Given the description of an element on the screen output the (x, y) to click on. 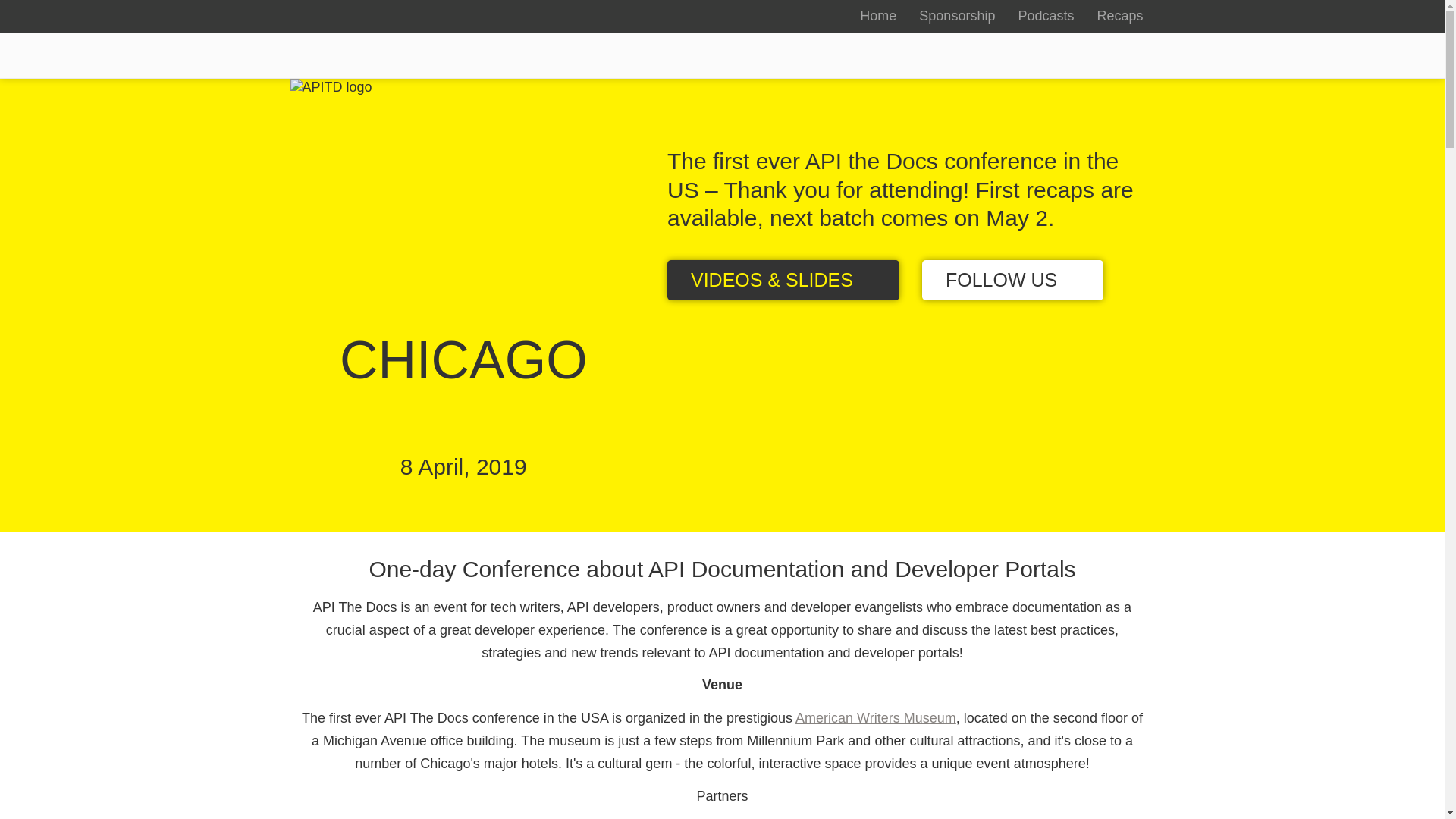
FOLLOW US (1012, 279)
Home (877, 16)
Recaps (1119, 16)
Sponsorship (956, 16)
Podcasts (1045, 16)
American Writers Museum (875, 717)
